Given the description of an element on the screen output the (x, y) to click on. 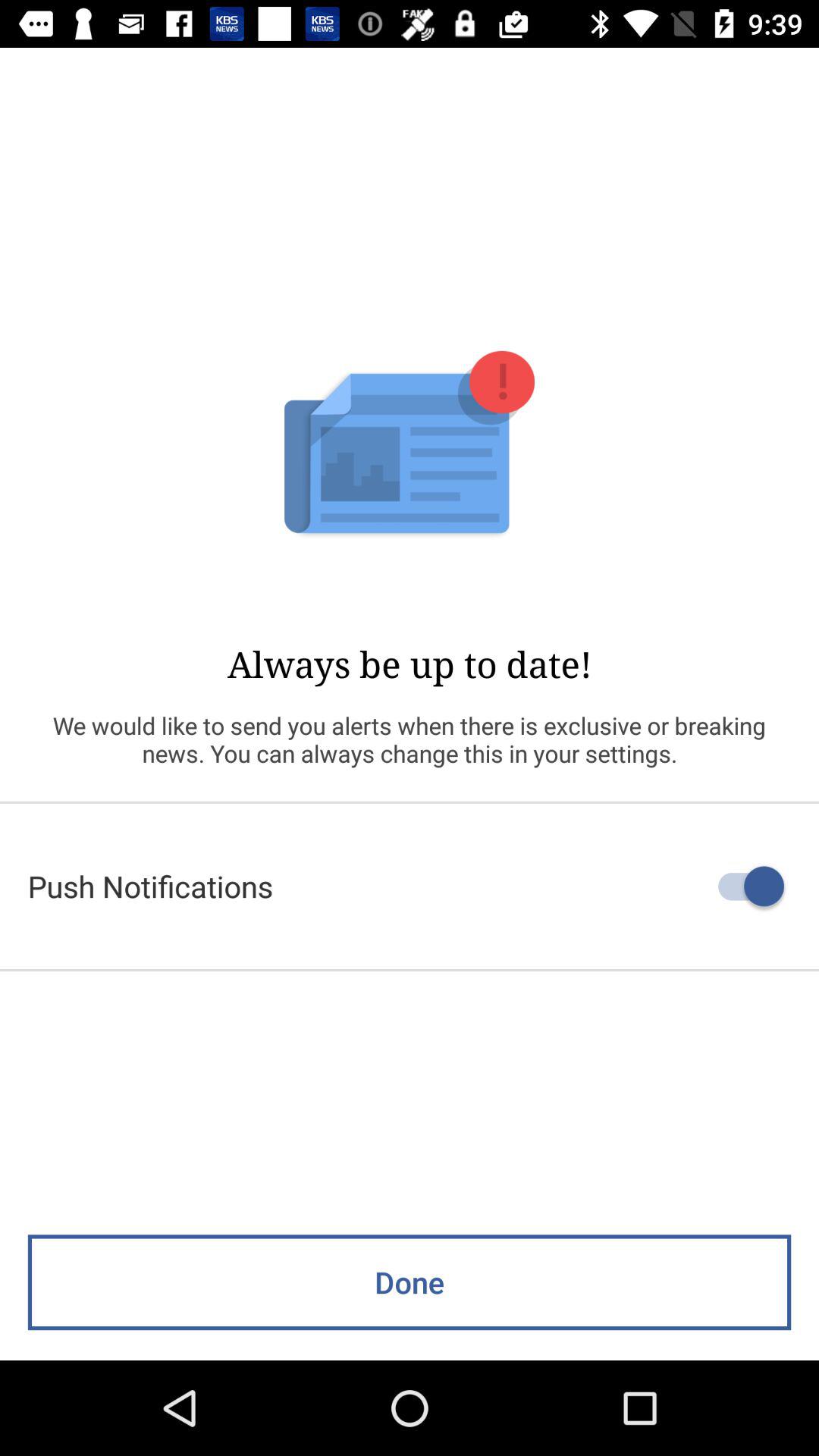
flip to the push notifications item (409, 886)
